Given the description of an element on the screen output the (x, y) to click on. 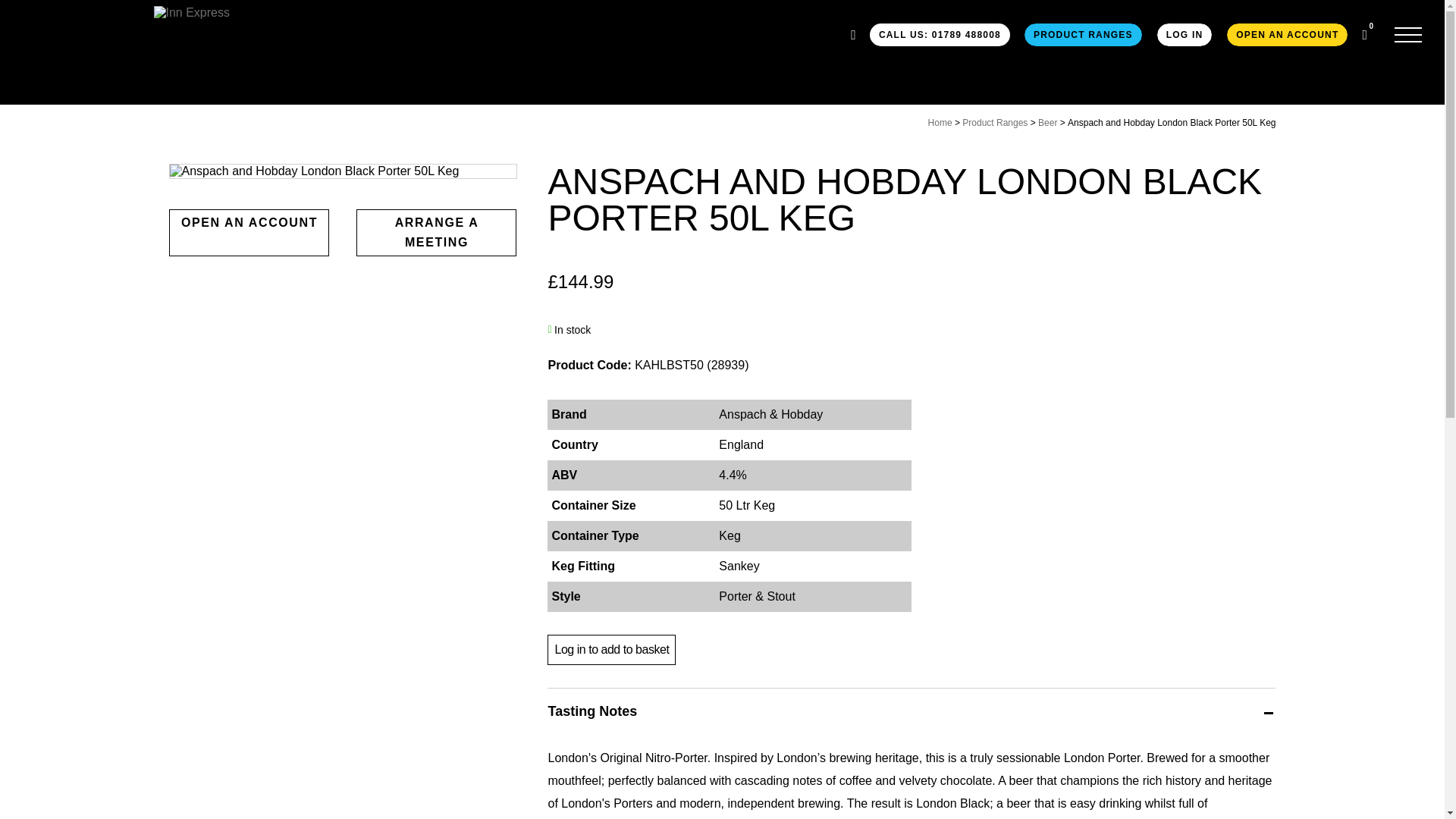
PRODUCT RANGES (1082, 34)
LOG IN (1184, 34)
Main menu (1408, 34)
OPEN AN ACCOUNT (1286, 34)
CALL US: 01789 488008 (939, 34)
